Given the description of an element on the screen output the (x, y) to click on. 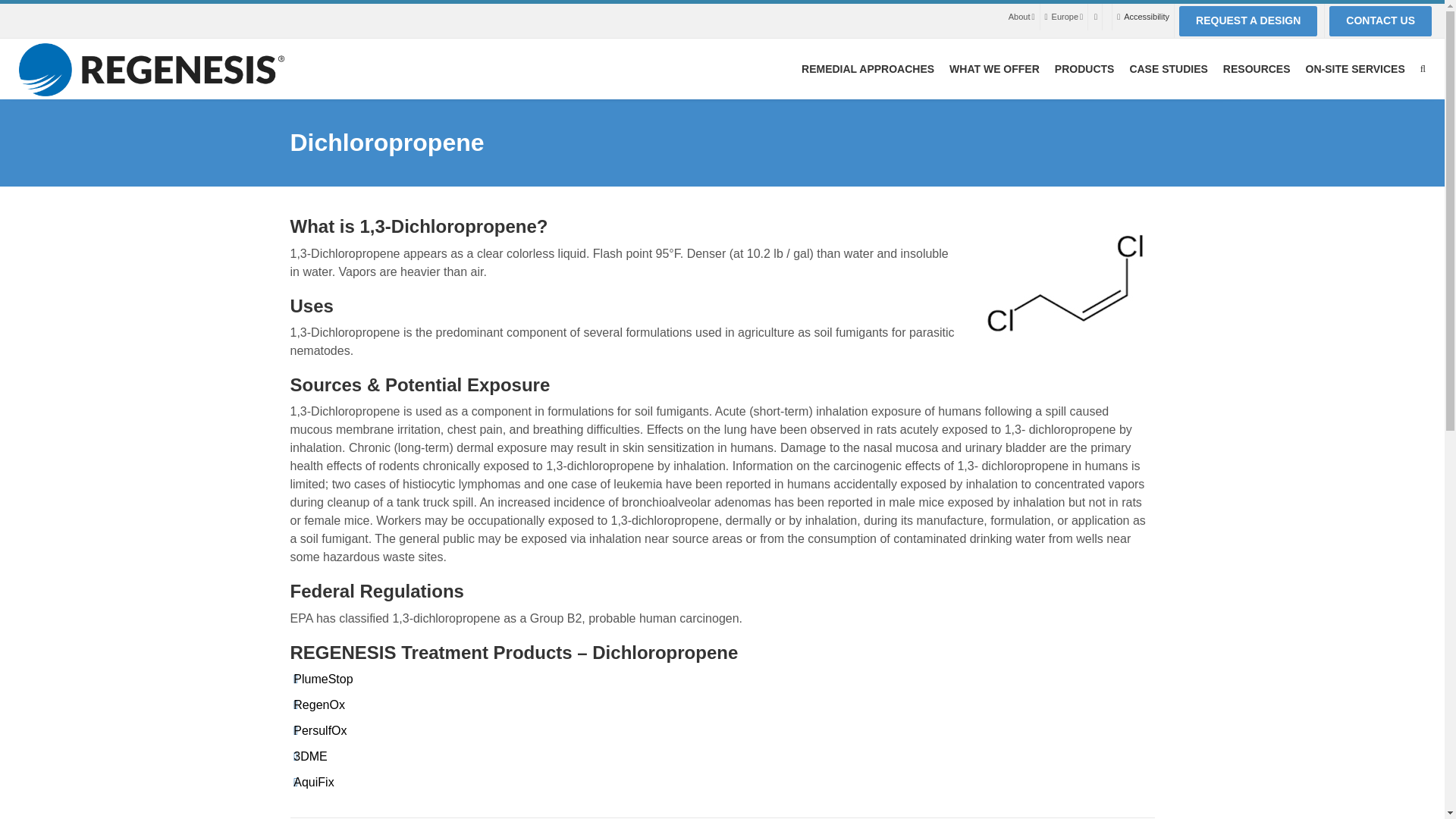
REQUEST A DESIGN (1248, 20)
Accessibility (1146, 17)
REMEDIAL APPROACHES (867, 68)
CONTACT US (1380, 20)
